Given the description of an element on the screen output the (x, y) to click on. 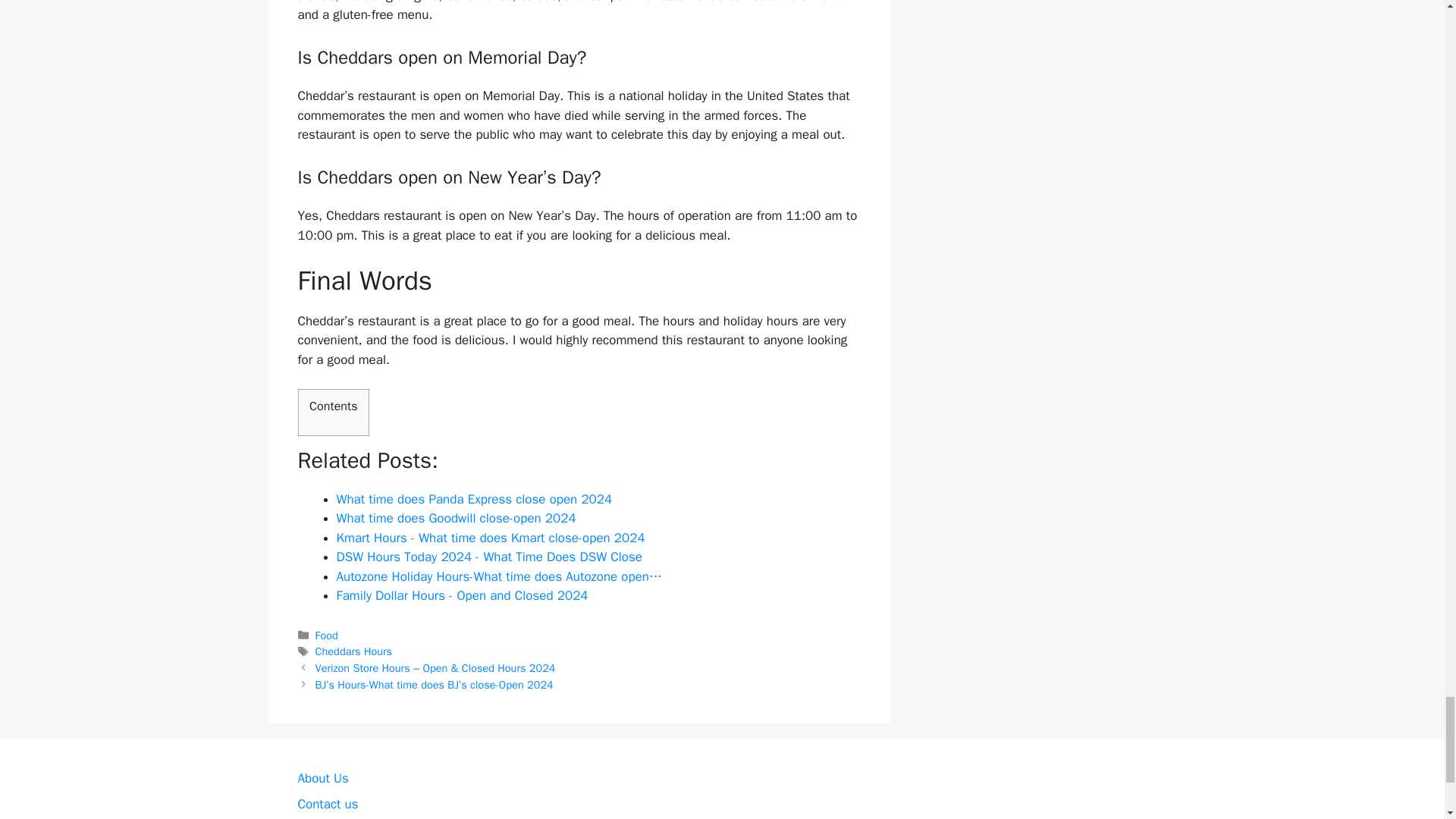
Kmart Hours - What time does Kmart close-open 2024 (490, 537)
About Us (322, 778)
What time does Panda Express close open 2024 (474, 498)
Food (326, 635)
Cheddars Hours (354, 651)
DSW Hours Today 2024 - What Time Does DSW Close (489, 556)
Family Dollar Hours - Open and Closed 2024 (462, 595)
What time does Goodwill close-open 2024 (456, 518)
Contact us (327, 804)
